Given the description of an element on the screen output the (x, y) to click on. 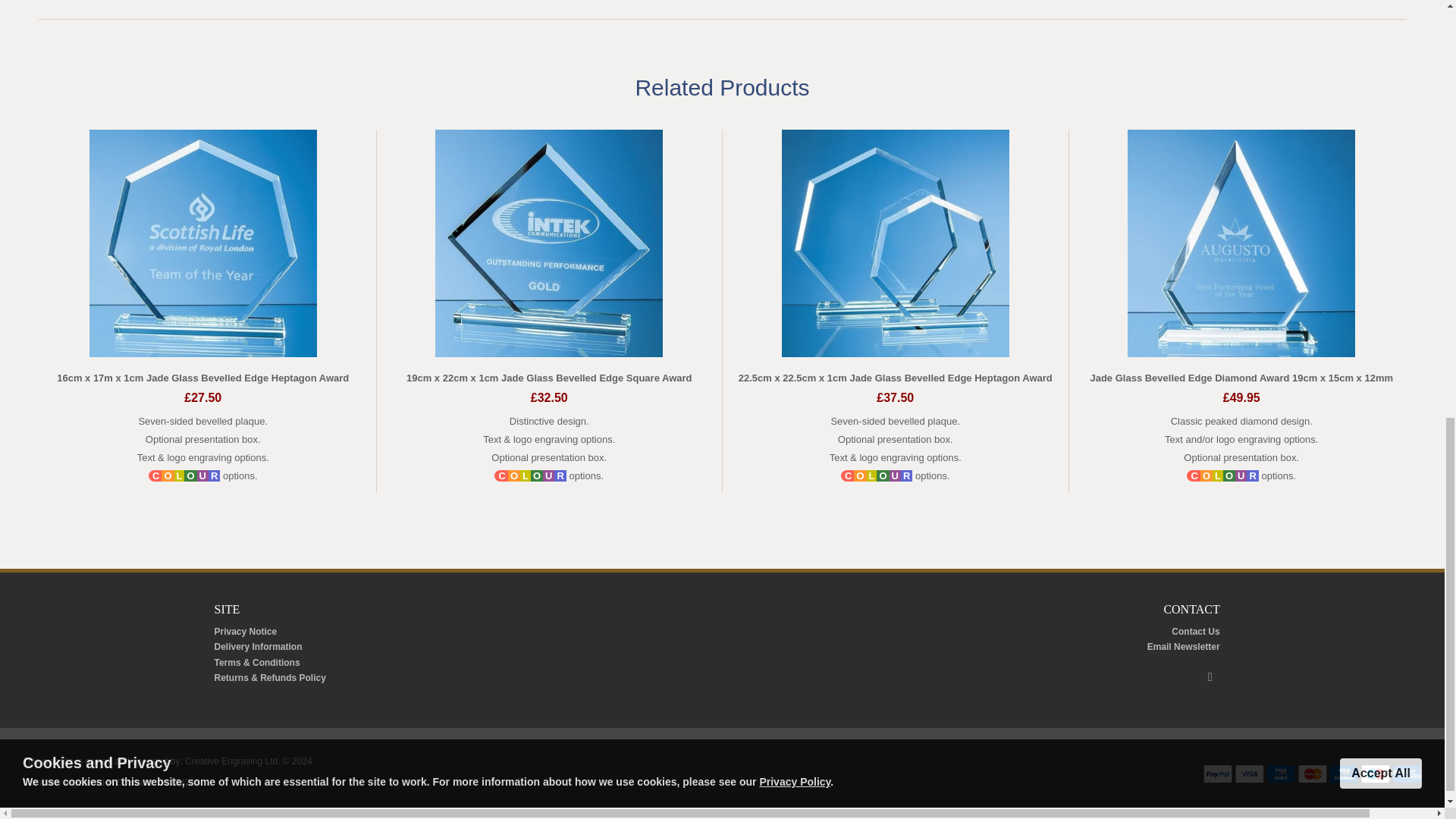
19cm x 22cm x 1cm Jade Glass Bevelled Edge Square Award (548, 378)
Contact Us (1196, 631)
Email Newsletter (1183, 646)
Privacy Notice (245, 631)
Delivery Information (257, 646)
Jade Glass Bevelled Edge Diamond Award 19cm x 15cm x 12mm (1241, 378)
16cm x 17m x 1cm Jade Glass Bevelled Edge Heptagon Award (202, 378)
